Given the description of an element on the screen output the (x, y) to click on. 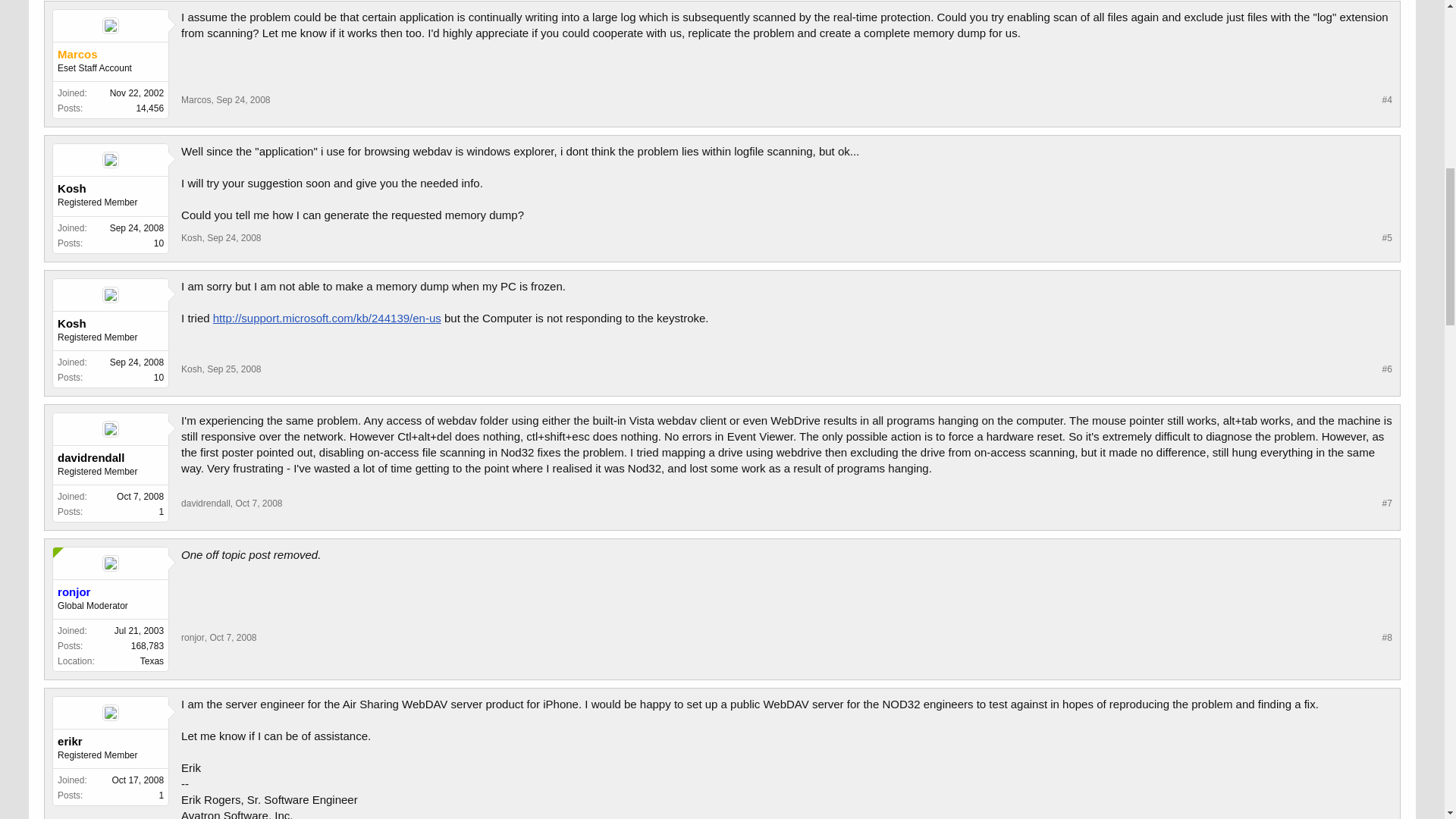
Kosh (110, 188)
Sep 24, 2008 (242, 100)
14,456 (149, 108)
Sep 24, 2008 (233, 237)
Permalink (233, 237)
Kosh (191, 237)
Marcos (195, 100)
Marcos (110, 54)
Permalink (242, 100)
10 (158, 243)
